Given the description of an element on the screen output the (x, y) to click on. 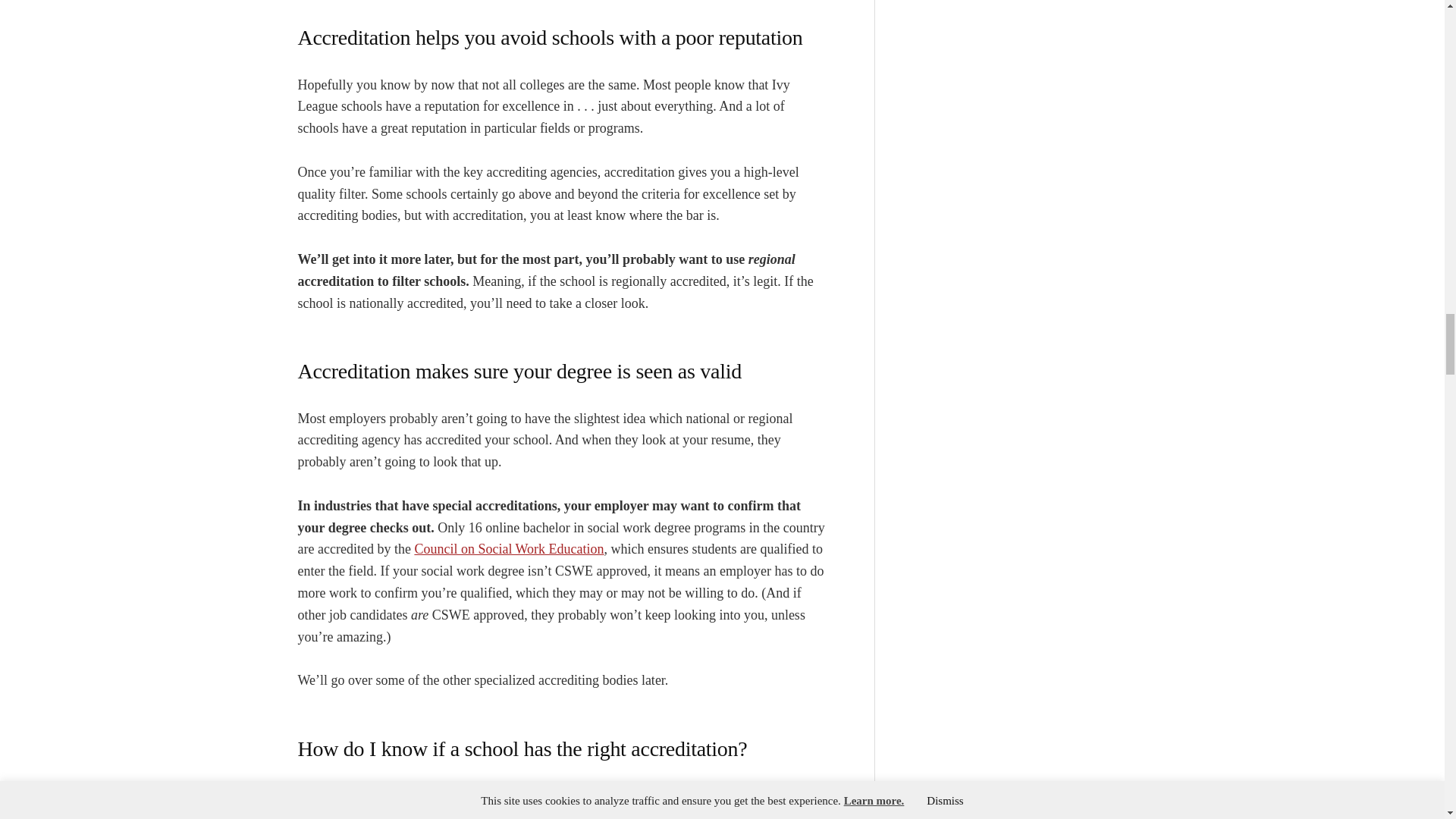
60 active accrediting bodies (660, 795)
Council on Social Work Education (508, 548)
